Given the description of an element on the screen output the (x, y) to click on. 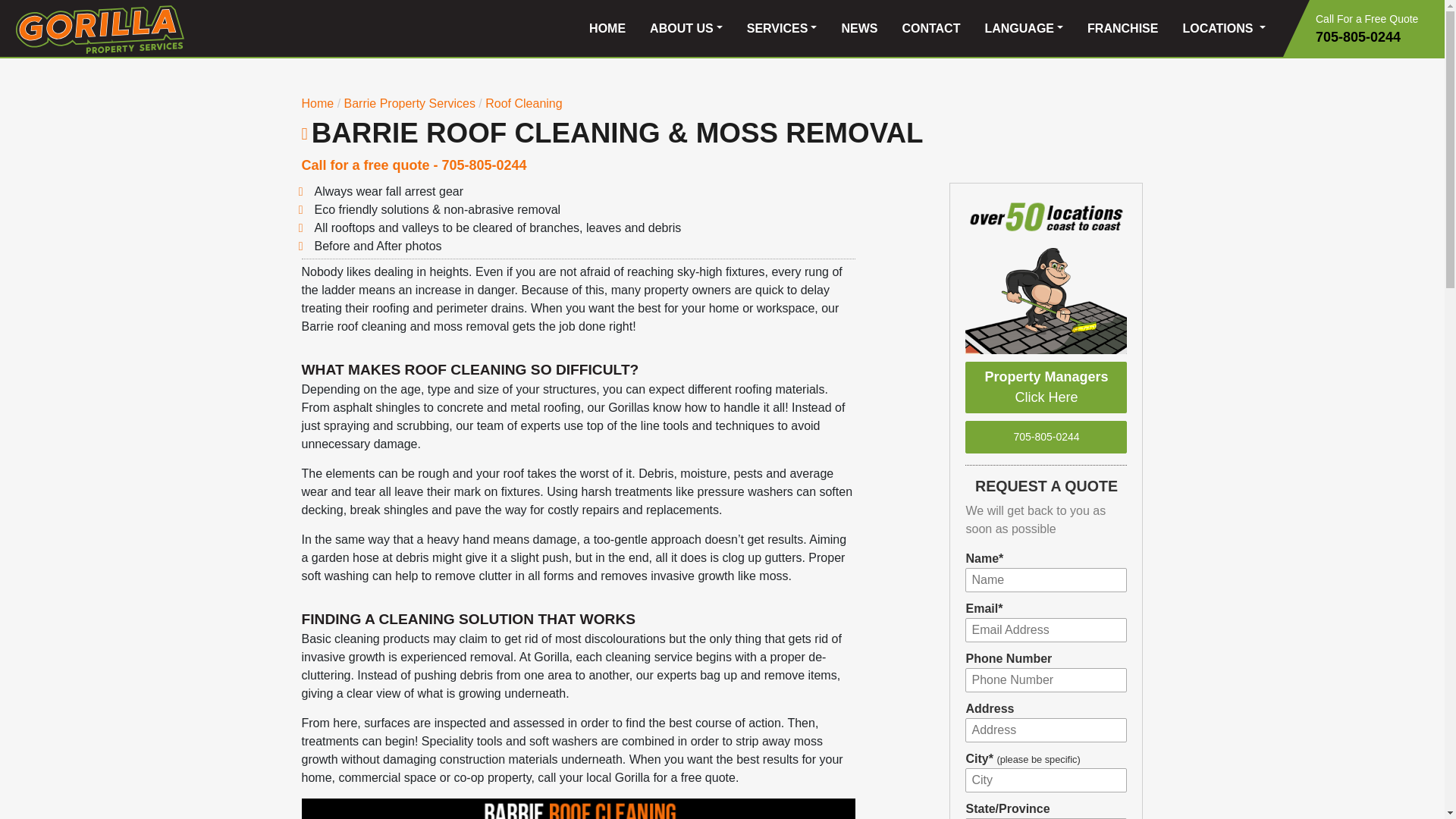
FRANCHISE (1122, 28)
Home (317, 103)
Services (408, 103)
NEWS (858, 28)
ABOUT US (686, 28)
LOCATIONS (1224, 28)
SERVICES (782, 28)
HOME (606, 28)
LANGUAGE (1023, 28)
CONTACT (930, 28)
